Given the description of an element on the screen output the (x, y) to click on. 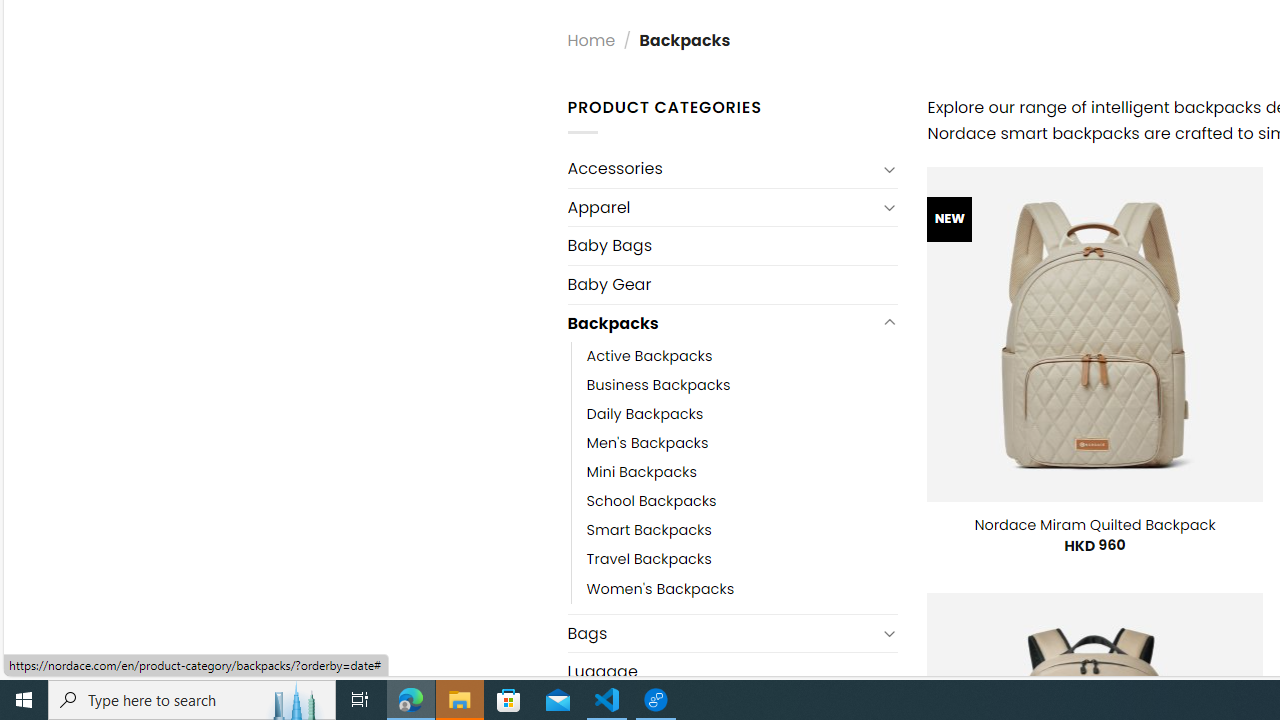
Women's Backpacks (660, 588)
Business Backpacks (658, 385)
Accessories (721, 168)
Travel Backpacks (742, 560)
Active Backpacks (649, 357)
Active Backpacks (742, 357)
Smart Backpacks (742, 530)
Baby Gear (732, 283)
Luggage (732, 671)
Men's Backpacks (647, 444)
Nordace Miram Quilted Backpack (1095, 524)
Baby Bags (732, 245)
